Given the description of an element on the screen output the (x, y) to click on. 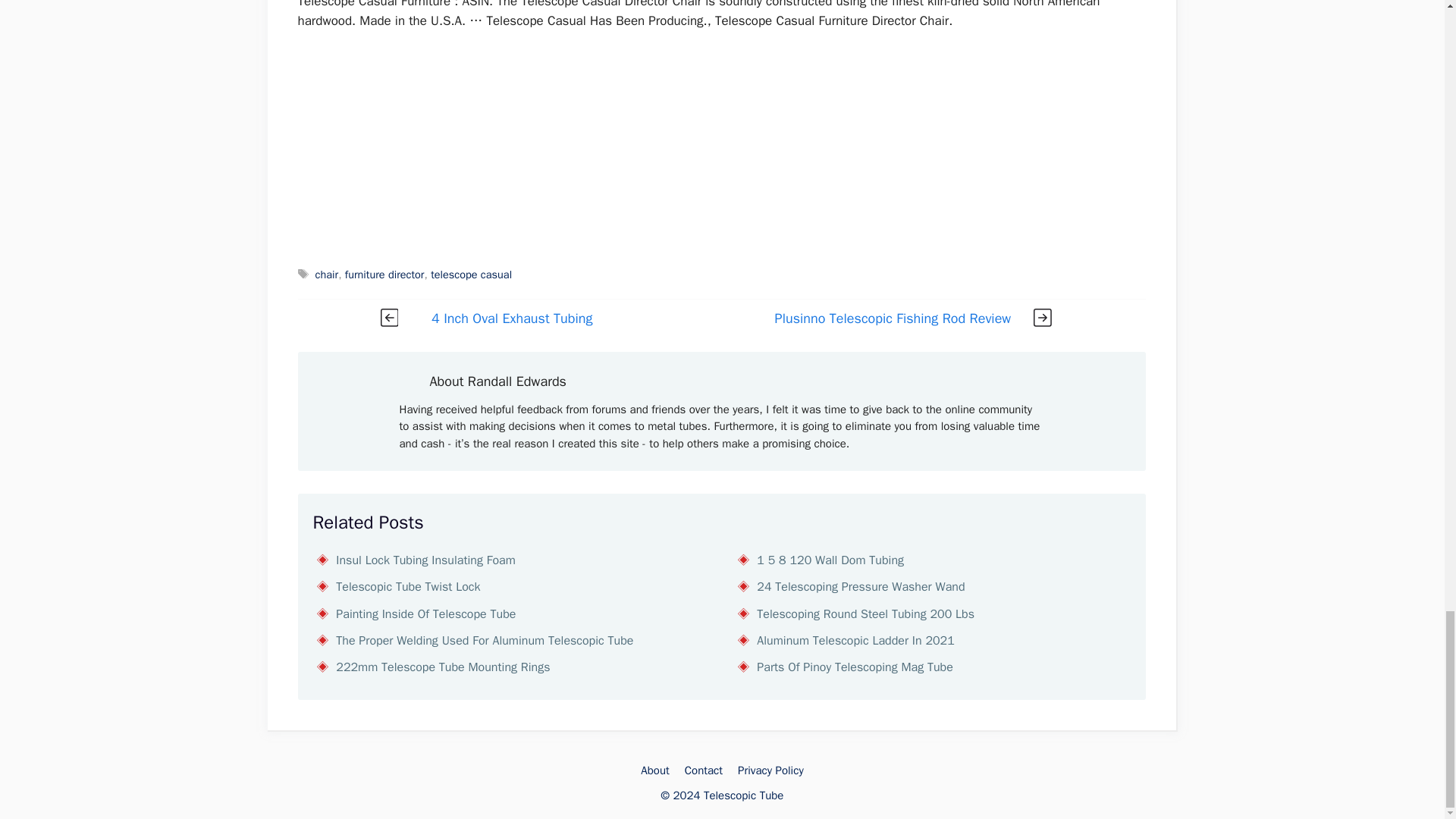
1 5 8 120 Wall Dom Tubing (830, 560)
222mm Telescope Tube Mounting Rings (443, 667)
Plusinno Telescopic Fishing Rod Review (892, 318)
4 Inch Oval Exhaust Tubing (511, 318)
24 Telescoping Pressure Washer Wand (860, 586)
Aluminum Telescopic Ladder In 2021 (855, 640)
The Proper Welding Used For Aluminum Telescopic Tube (484, 640)
Parts Of Pinoy Telescoping Mag Tube (855, 667)
Telescoping Round Steel Tubing 200 Lbs (865, 613)
furniture director (385, 274)
